Given the description of an element on the screen output the (x, y) to click on. 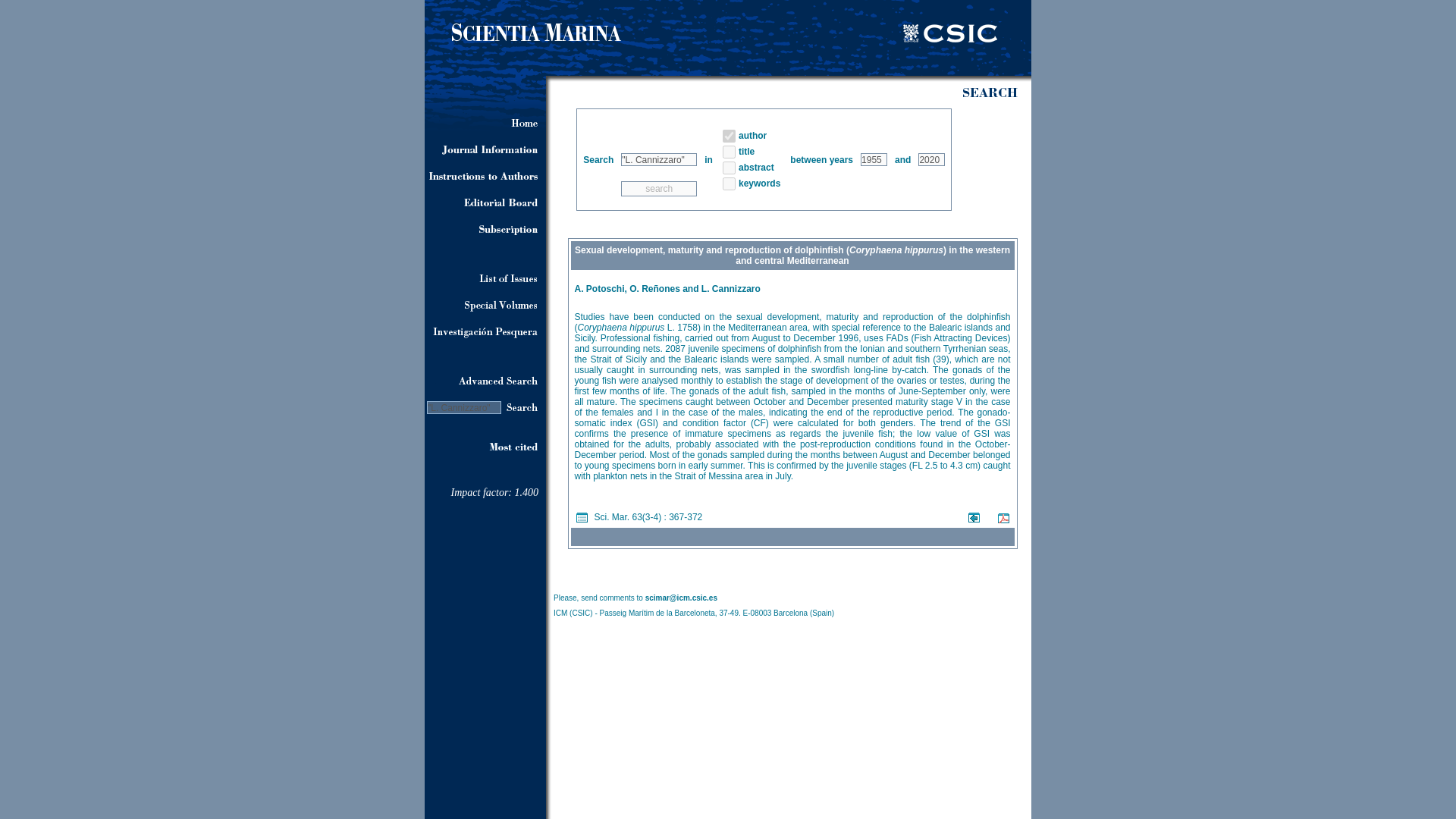
search (659, 188)
1 (728, 151)
"L. Cannizzaro" (659, 159)
search (659, 188)
2020 (931, 159)
"L. Cannizzaro" (463, 407)
1955 (873, 159)
1 (728, 166)
1 (728, 134)
1 (728, 183)
